Given the description of an element on the screen output the (x, y) to click on. 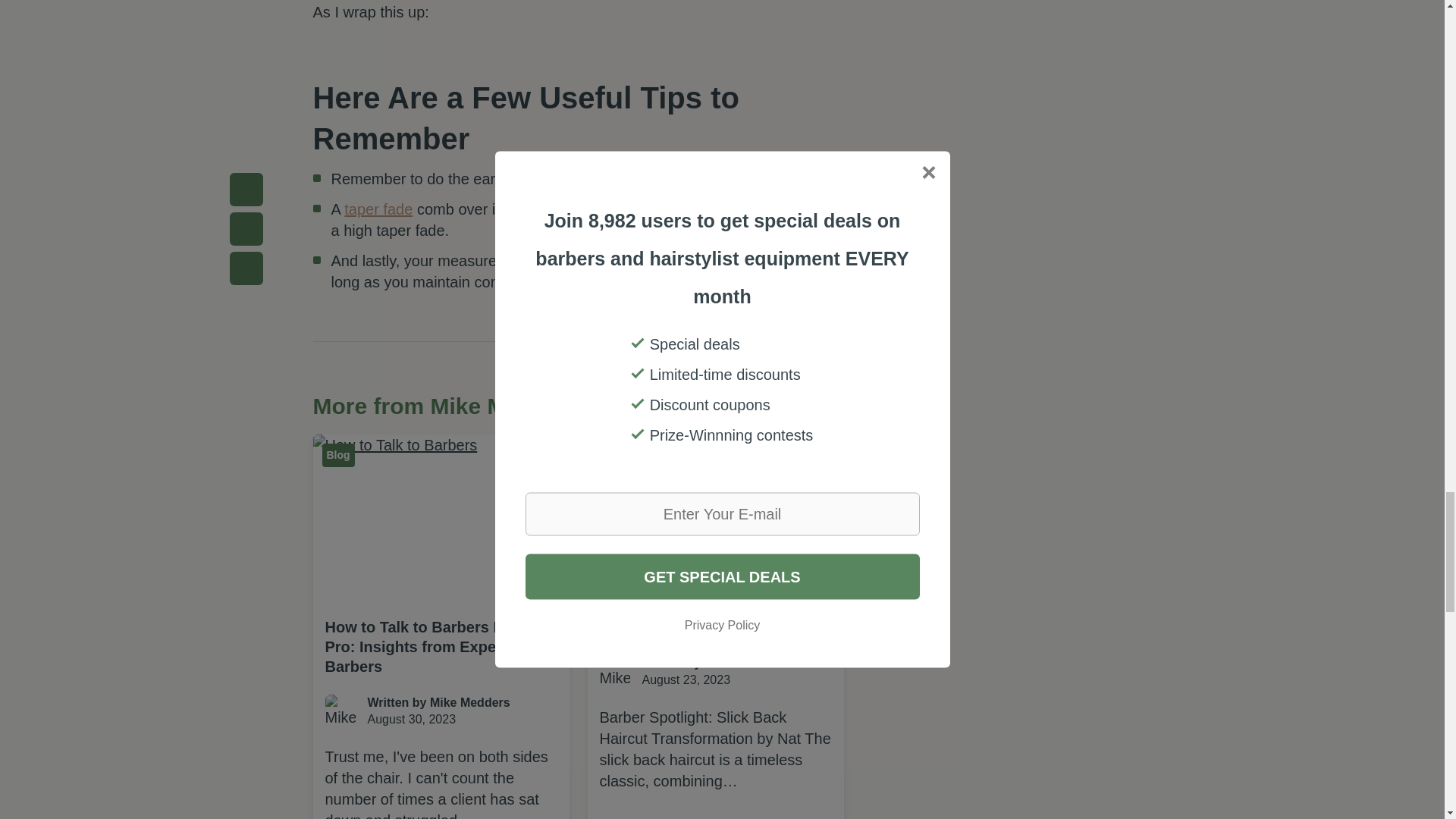
taper fade (714, 671)
Slick Back Haircut (377, 208)
Hair (665, 627)
Hairstyles (649, 454)
Blog (700, 454)
Blog (611, 454)
